Given the description of an element on the screen output the (x, y) to click on. 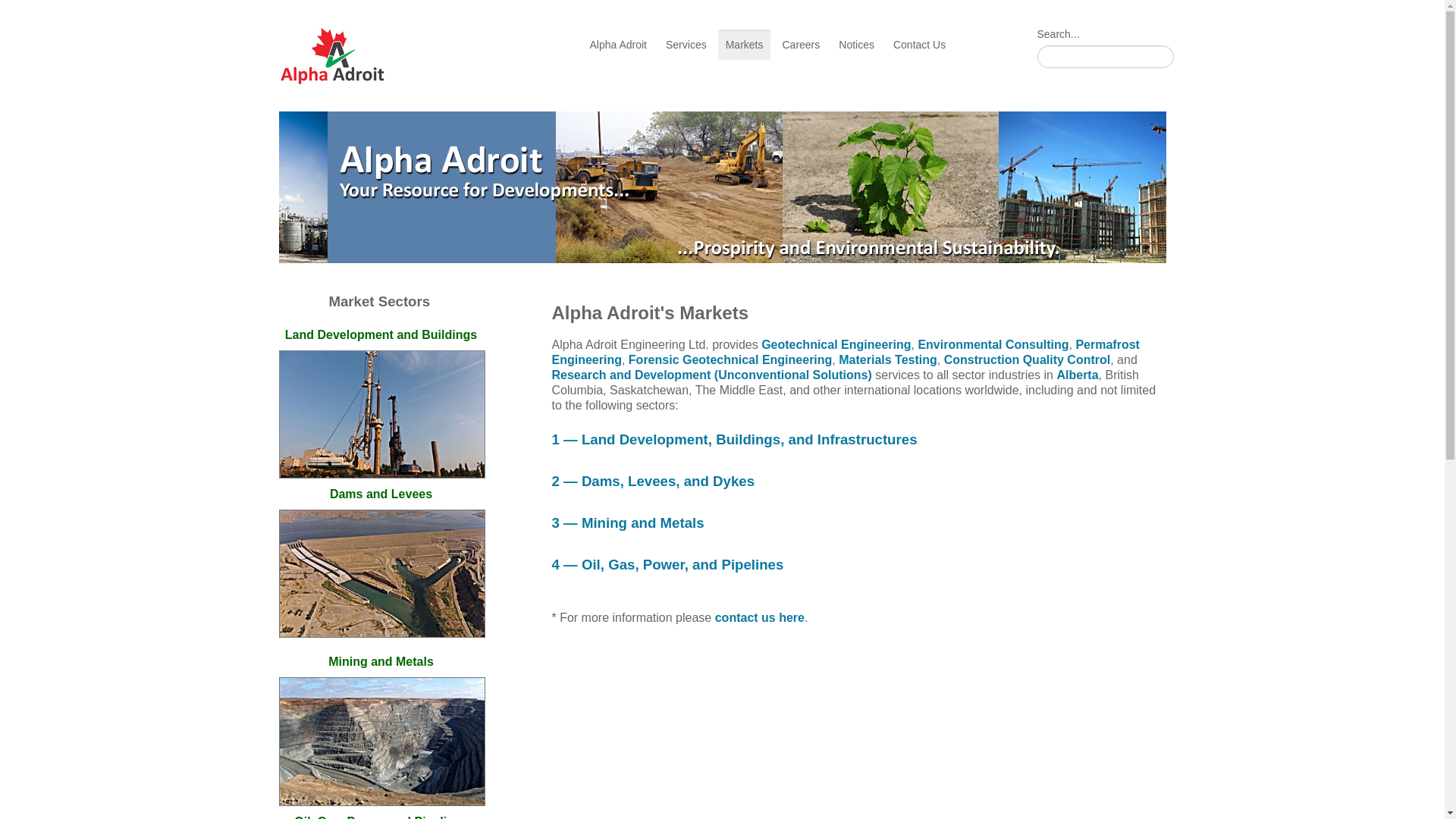
Careers Element type: text (800, 44)
Research and Development (Unconventional Solutions) Element type: text (712, 374)
contact us here Element type: text (759, 617)
Mining and Metals Element type: text (380, 661)
Materials Testing Element type: text (887, 359)
Environmental Consulting Element type: text (992, 344)
Forensic Geotechnical Engineering Element type: text (730, 359)
Permafrost Engineering Element type: text (845, 352)
Notices Element type: text (856, 44)
Geotechnical Engineering Element type: text (835, 344)
Markets Element type: text (744, 44)
Contact Us Element type: text (919, 44)
Services Element type: text (686, 44)
Land Development and Buildings Element type: text (380, 334)
Alberta Element type: text (1077, 374)
Dams and Levees Element type: text (380, 493)
 Construction Quality Control Element type: text (1025, 359)
Alpha Adroit Element type: text (618, 44)
